Given the description of an element on the screen output the (x, y) to click on. 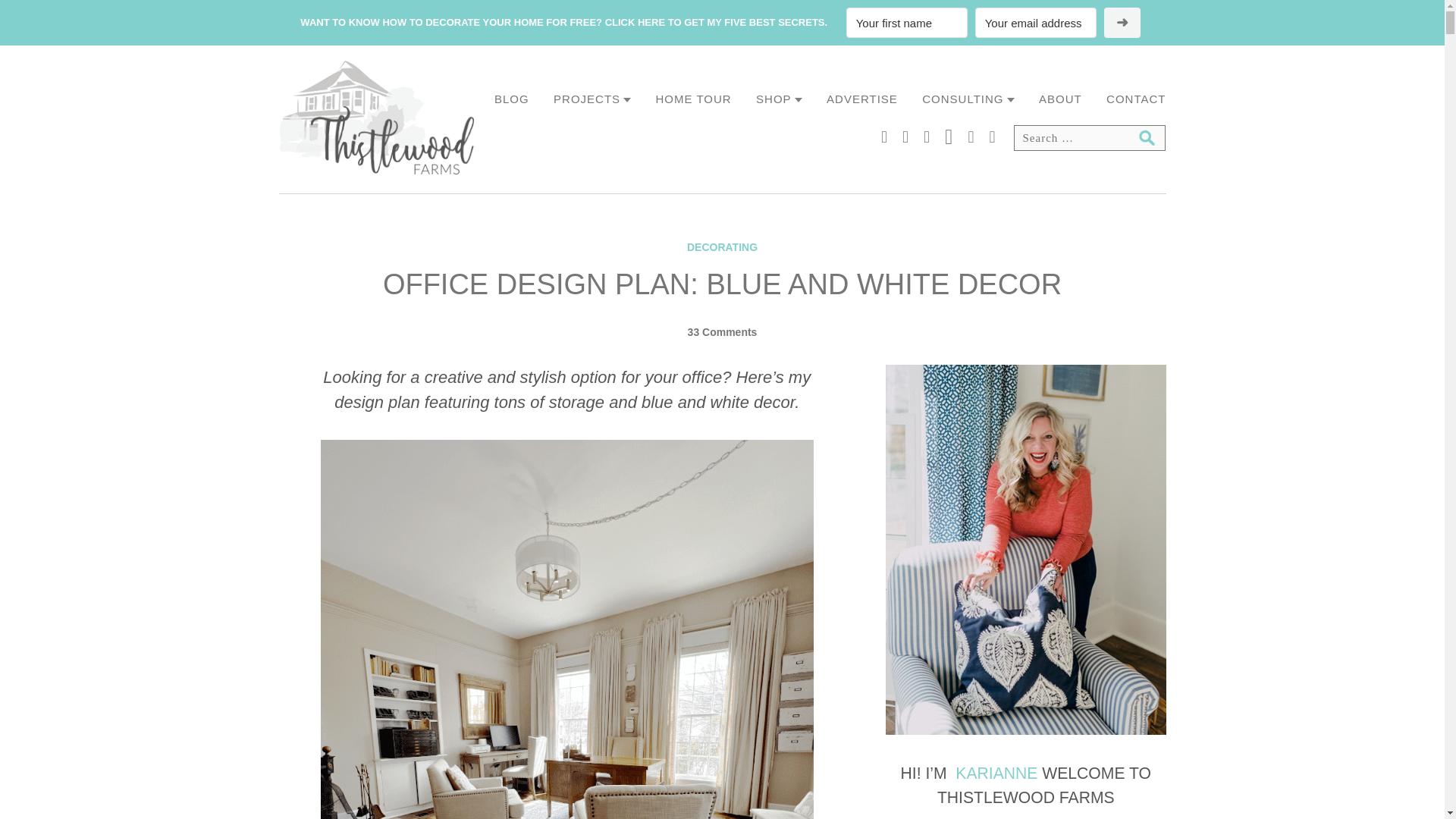
Search (1147, 137)
Search (1147, 137)
33 Comments (722, 331)
ADVERTISE (862, 99)
YES, I WANT IT (1121, 22)
CONTACT (1136, 99)
CONSULTING (967, 99)
BLOG (512, 99)
Search (1147, 137)
HOME TOUR (694, 99)
